Given the description of an element on the screen output the (x, y) to click on. 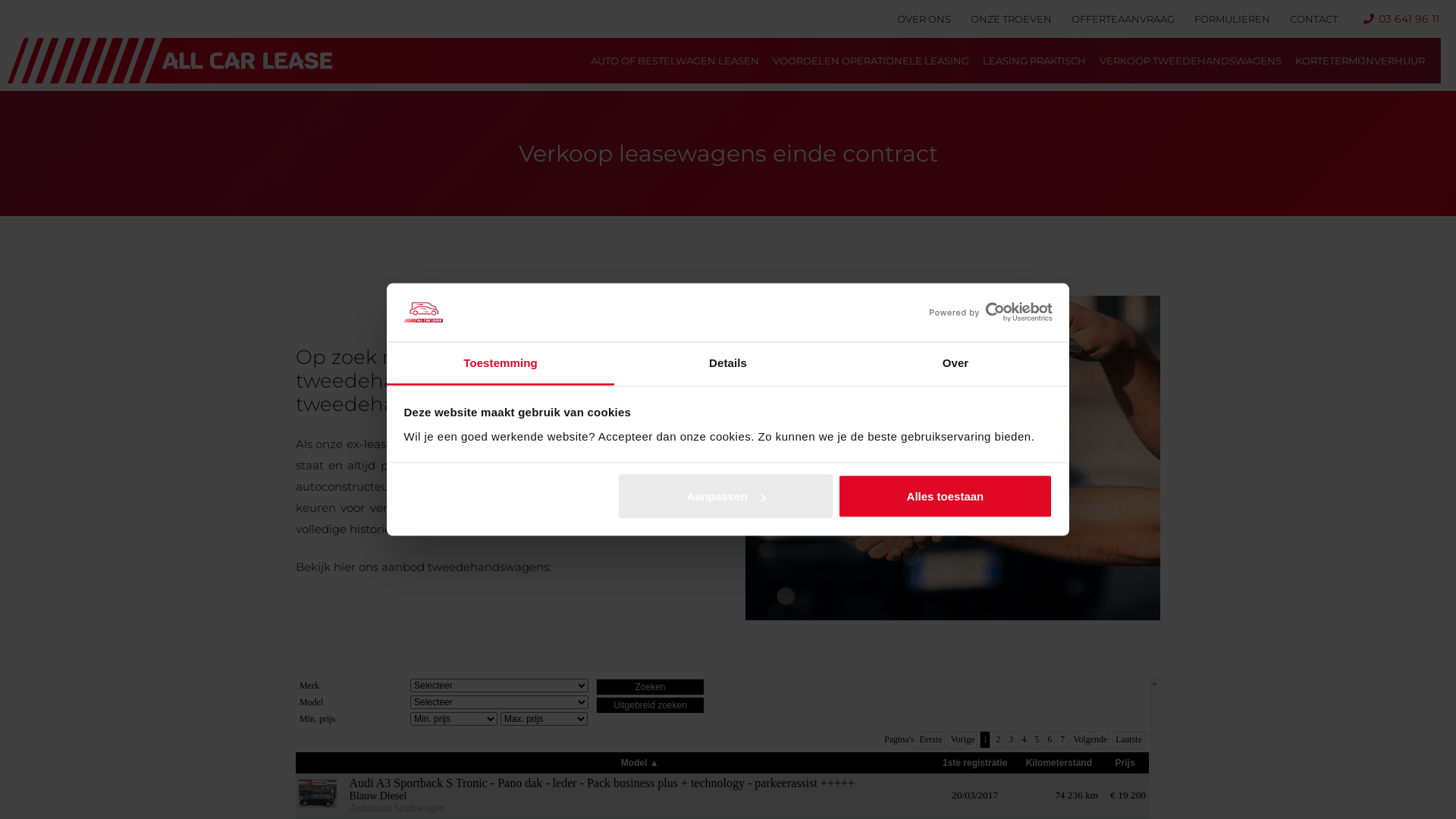
OFFERTEAANVRAAG Element type: text (1122, 18)
Toestemming Element type: text (500, 363)
Aanpassen Element type: text (725, 496)
CONTACT Element type: text (1313, 18)
OVER ONS Element type: text (923, 18)
03 641 96 11 Element type: text (1401, 18)
FORMULIEREN Element type: text (1232, 18)
LEASING PRAKTISCH Element type: text (1033, 60)
AUTO OF BESTELWAGEN LEASEN Element type: text (674, 60)
Alles toestaan Element type: text (944, 496)
Details Element type: text (727, 363)
ONZE TROEVEN Element type: text (1010, 18)
VOORDELEN OPERATIONELE LEASING Element type: text (870, 60)
Over Element type: text (955, 363)
VERKOOP TWEEDEHANDSWAGENS Element type: text (1189, 60)
KORTETERMIJNVERHUUR Element type: text (1358, 60)
